Given the description of an element on the screen output the (x, y) to click on. 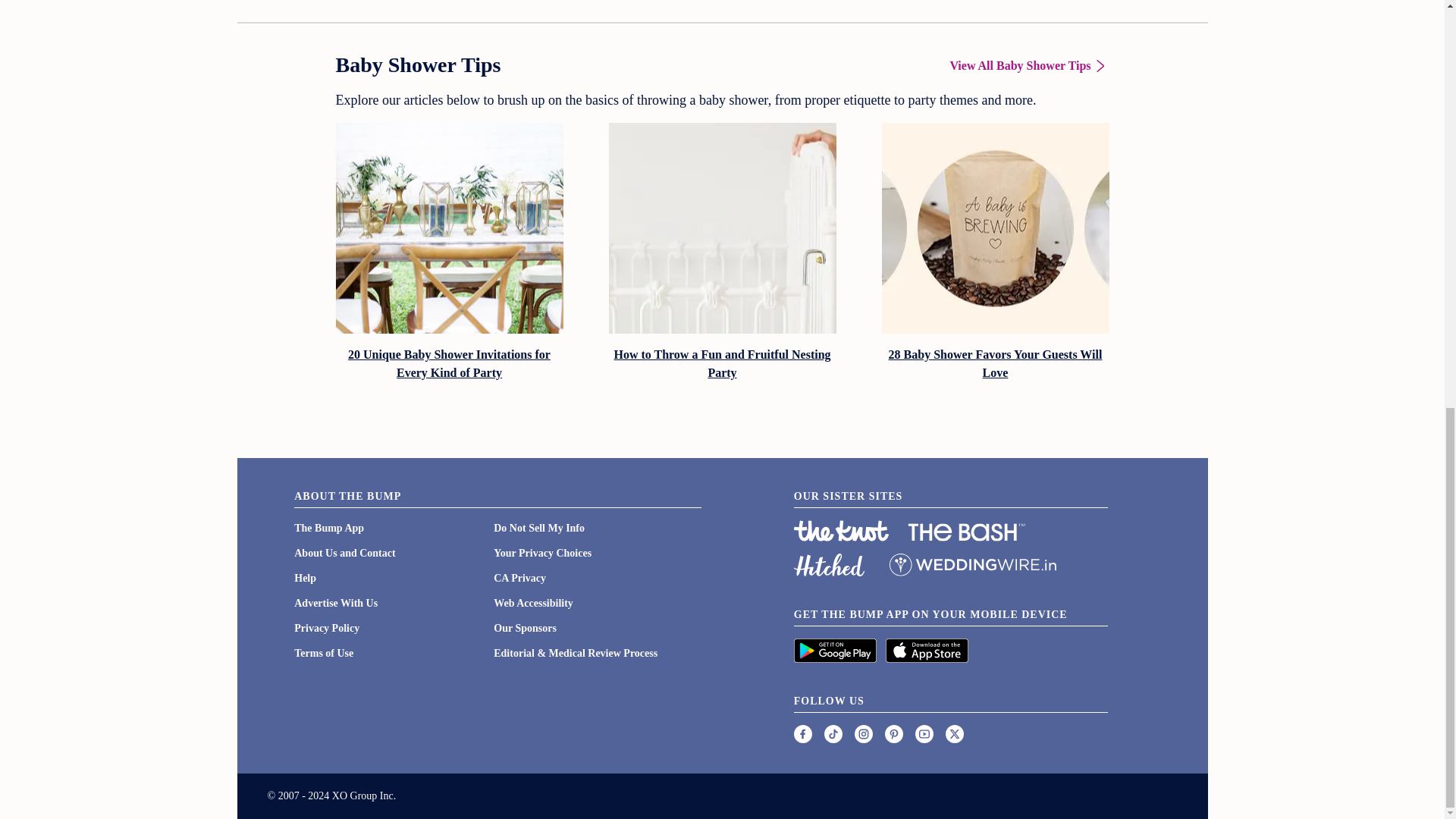
Privacy Policy (326, 627)
View All Baby Shower Tips (1028, 65)
CA Privacy (519, 577)
Your Privacy Choices (542, 552)
About Us and Contact (344, 552)
Help (304, 577)
Advertise With Us (335, 603)
The Bump App (329, 527)
Terms of Use (323, 653)
Do Not Sell My Info (539, 527)
Our Sponsors (524, 627)
Web Accessibility (533, 603)
